Given the description of an element on the screen output the (x, y) to click on. 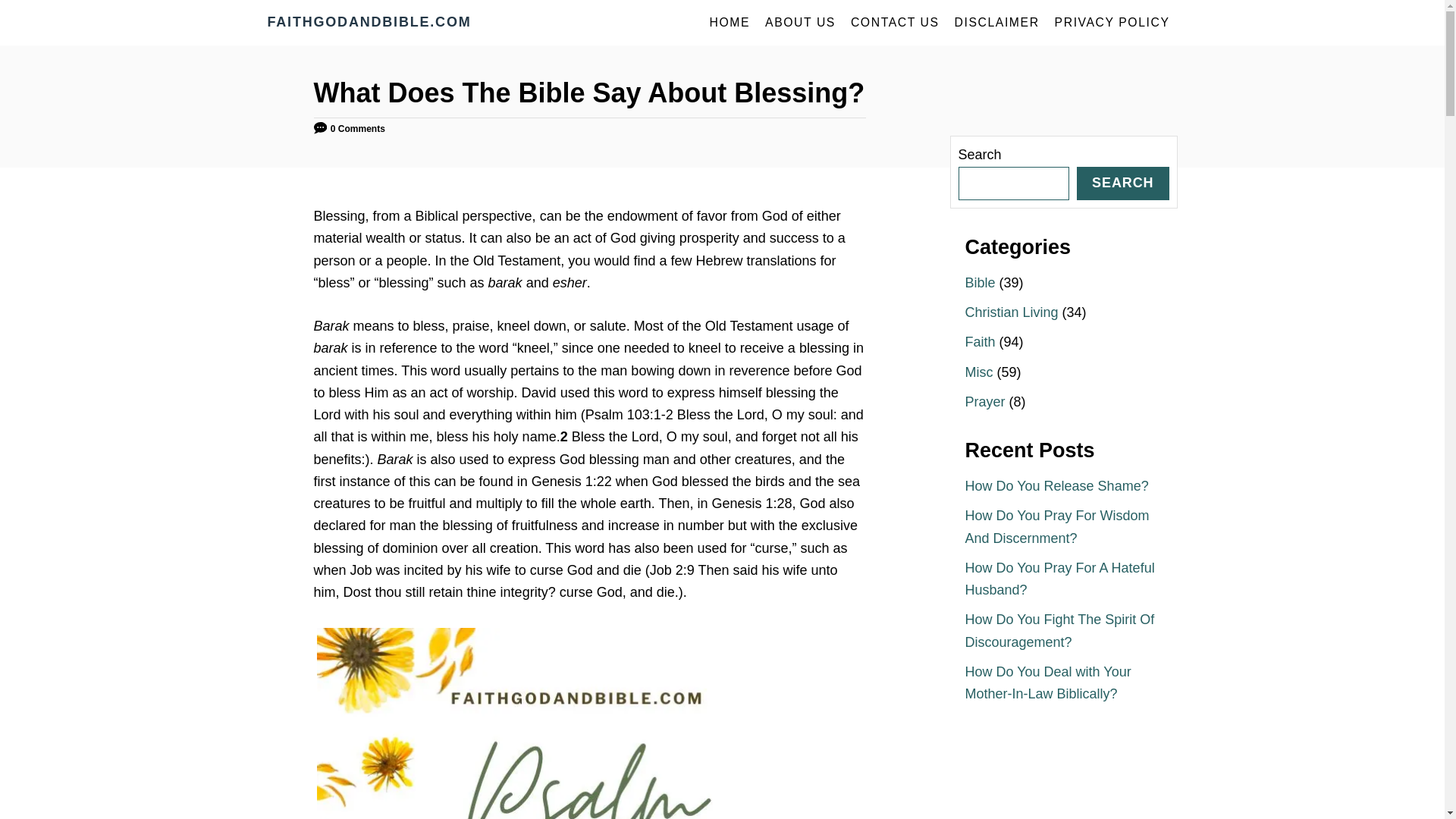
SEARCH (1123, 183)
How Do You Fight The Spirit Of Discouragement? (1058, 630)
HOME (729, 22)
Prayer (983, 401)
ABOUT US (800, 22)
How Do You Deal with Your Mother-In-Law Biblically? (1047, 682)
How Do You Pray For A Hateful Husband? (1058, 578)
CONTACT US (895, 22)
Bible (978, 282)
Christian Living (1010, 312)
Faith (978, 341)
FAITHGODANDBIBLE.COM (403, 22)
How Do You Pray For Wisdom And Discernment? (1055, 526)
How Do You Release Shame? (1055, 485)
faithgodandbible.com (403, 22)
